Given the description of an element on the screen output the (x, y) to click on. 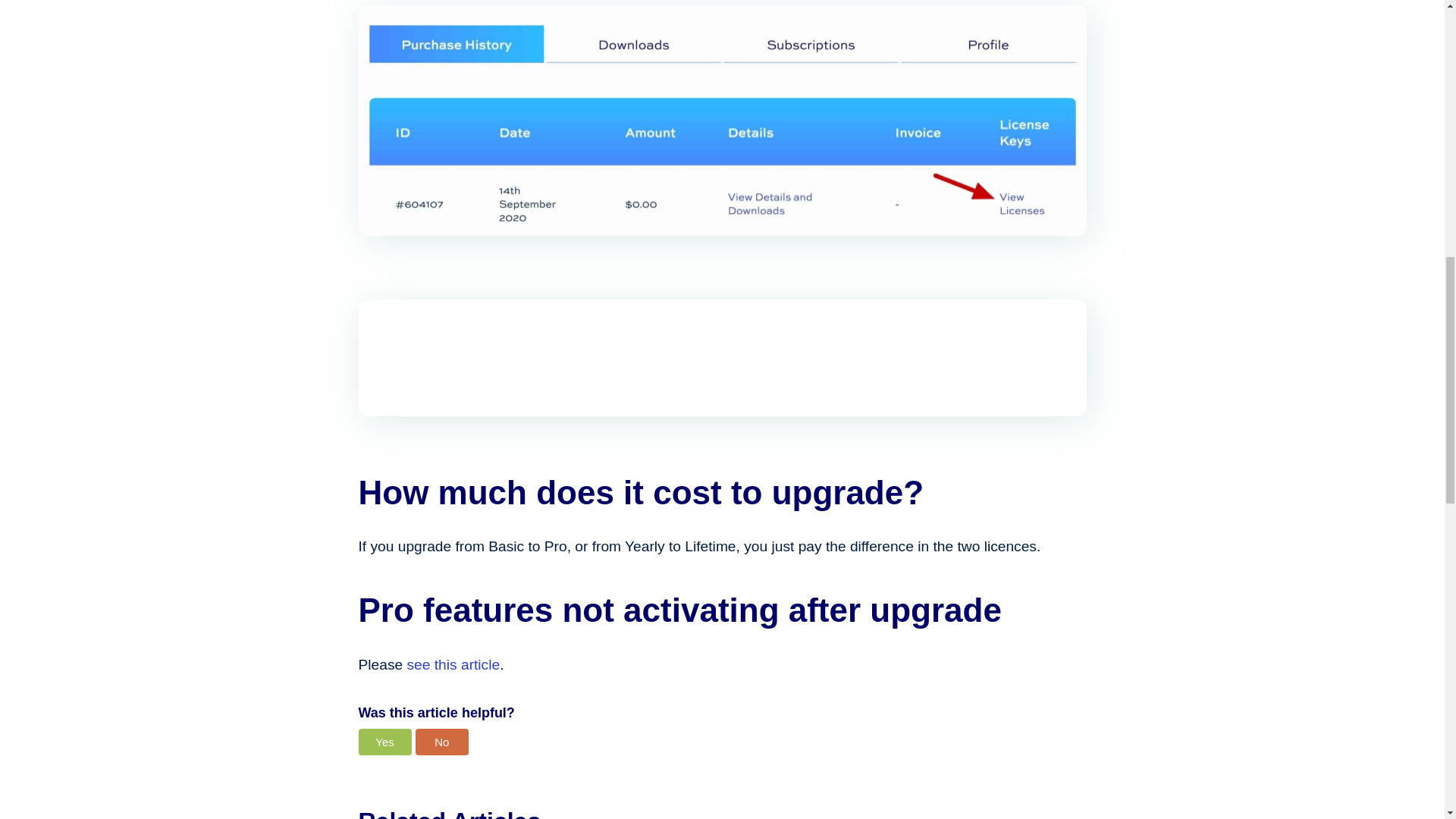
see this article (452, 664)
Yes (384, 741)
No (441, 741)
